Given the description of an element on the screen output the (x, y) to click on. 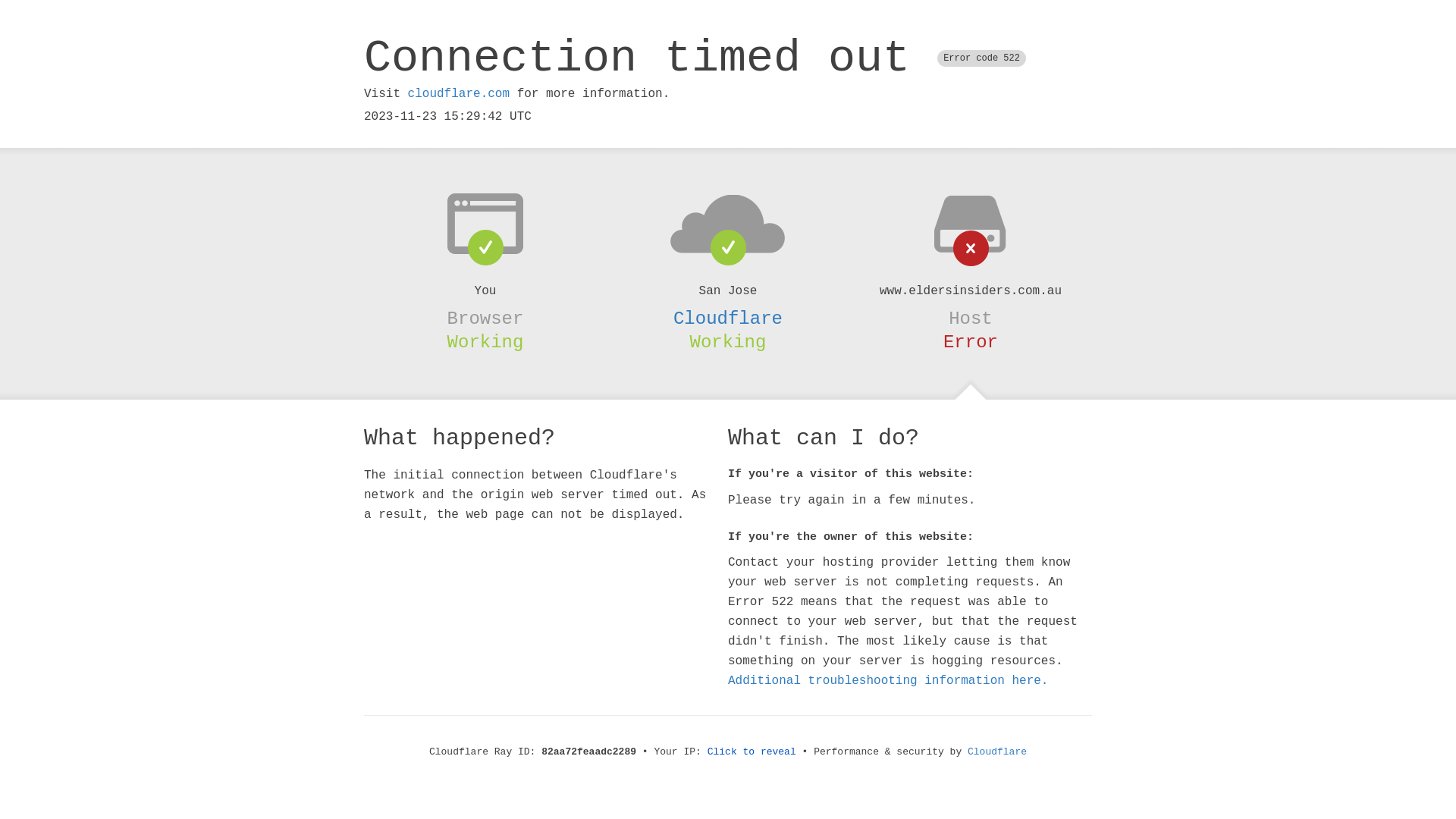
Cloudflare Element type: text (996, 751)
Cloudflare Element type: text (727, 318)
Click to reveal Element type: text (751, 751)
cloudflare.com Element type: text (458, 93)
Additional troubleshooting information here. Element type: text (888, 680)
